Given the description of an element on the screen output the (x, y) to click on. 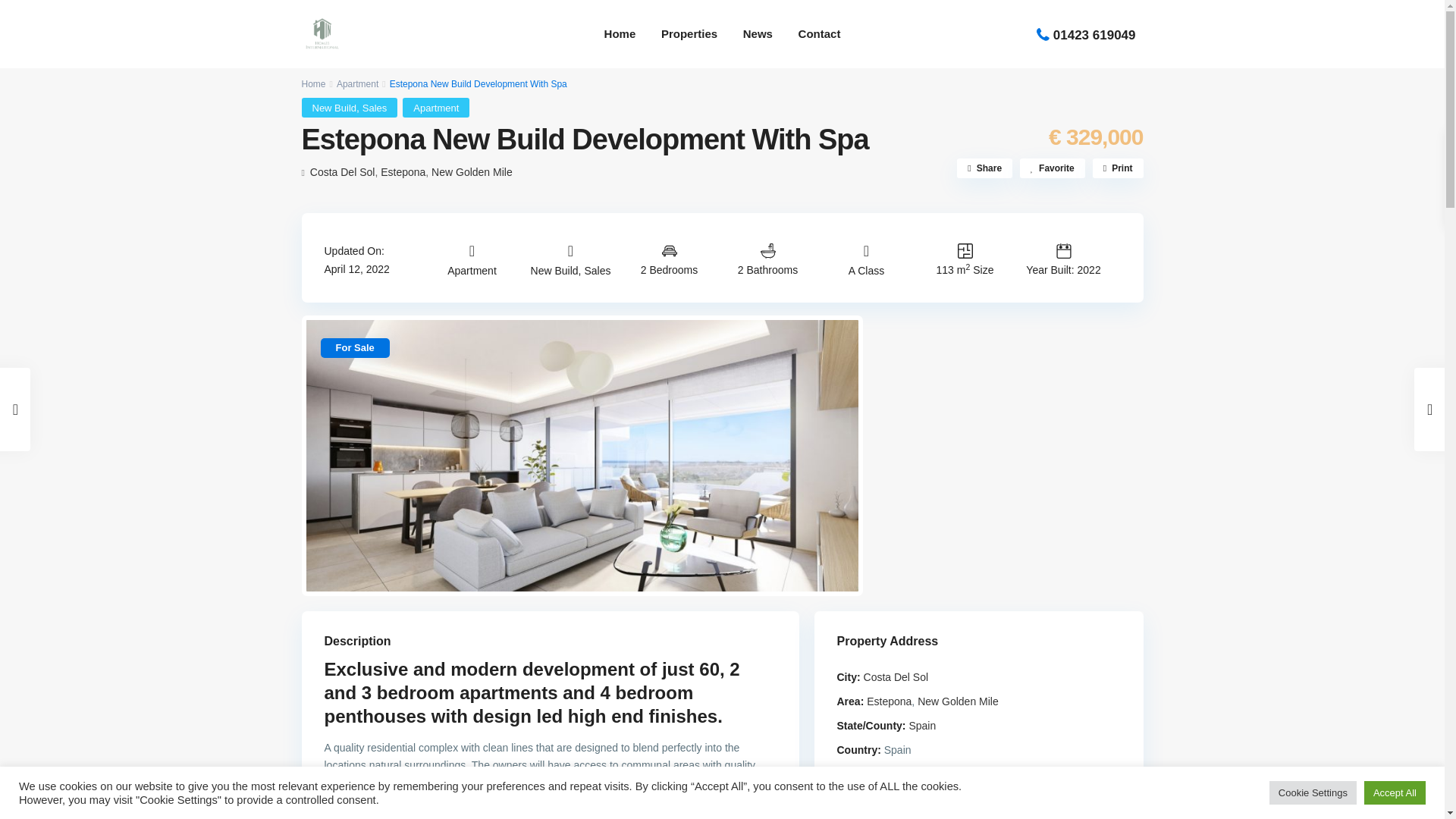
Contact (819, 33)
New Golden Mile (471, 172)
Costa Del Sol (342, 172)
Estepona (402, 172)
Apartment (435, 107)
01423 619049 (1093, 34)
New Build (334, 107)
Properties (689, 33)
Home (313, 83)
Sales (374, 107)
Apartment (357, 83)
